Given the description of an element on the screen output the (x, y) to click on. 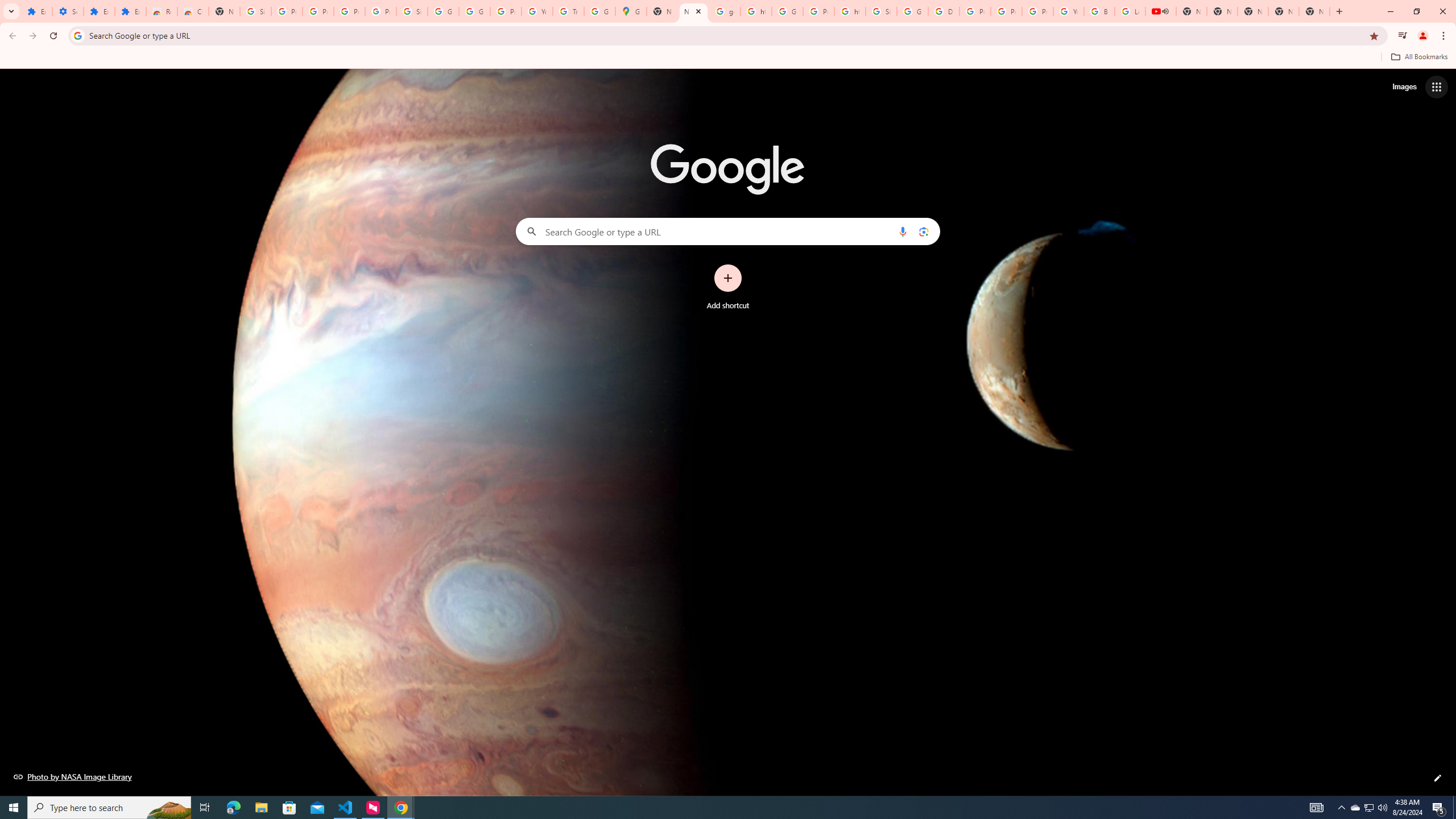
Reviews: Helix Fruit Jump Arcade Game (161, 11)
Extensions (36, 11)
Sign in - Google Accounts (411, 11)
All Bookmarks (1418, 56)
Extensions (98, 11)
